Given the description of an element on the screen output the (x, y) to click on. 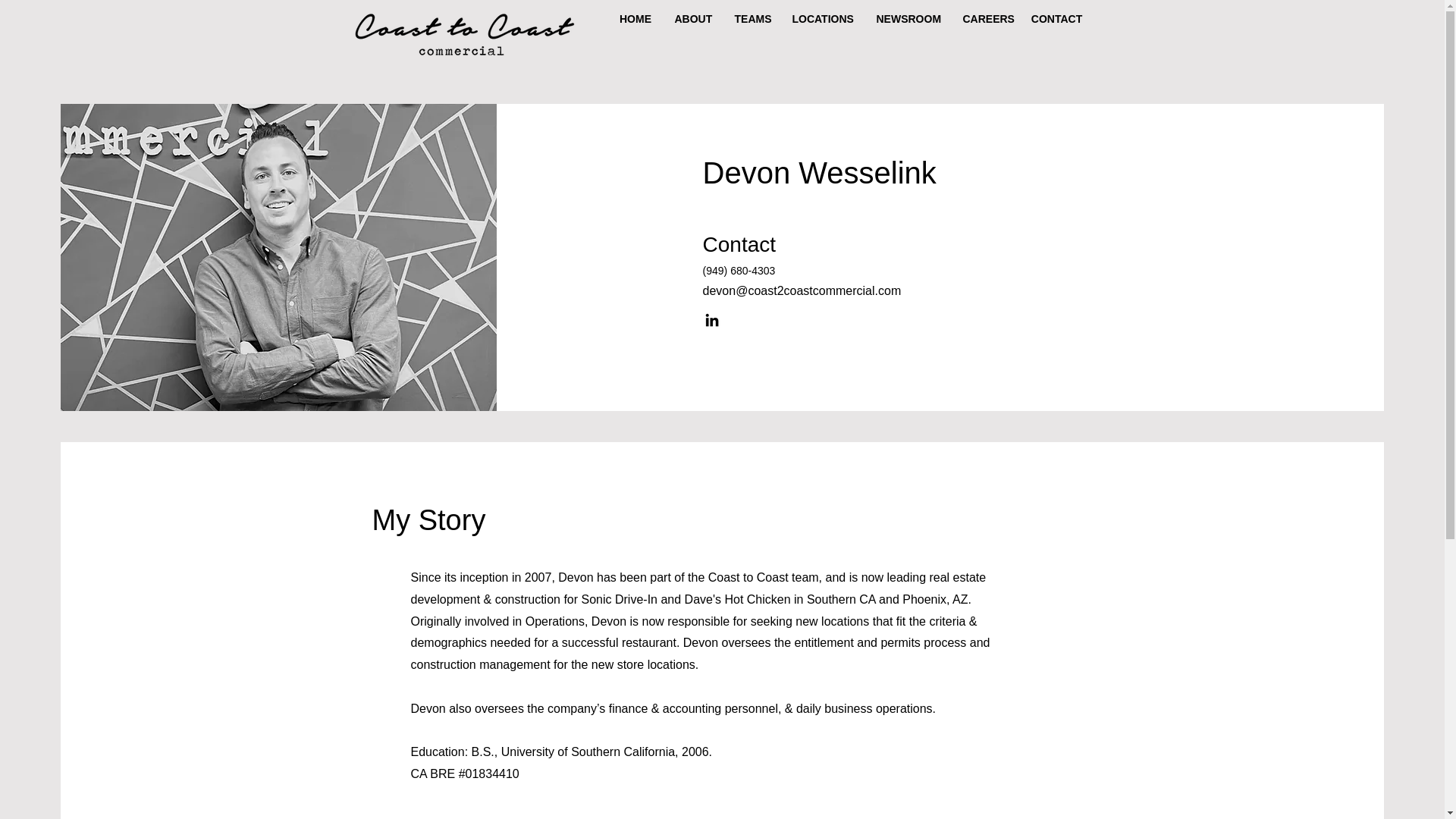
ABOUT (692, 17)
LOCATIONS (822, 17)
NEWSROOM (907, 17)
HOME (635, 17)
TEAMS (751, 17)
CAREERS (984, 17)
CONTACT (1056, 17)
